Given the description of an element on the screen output the (x, y) to click on. 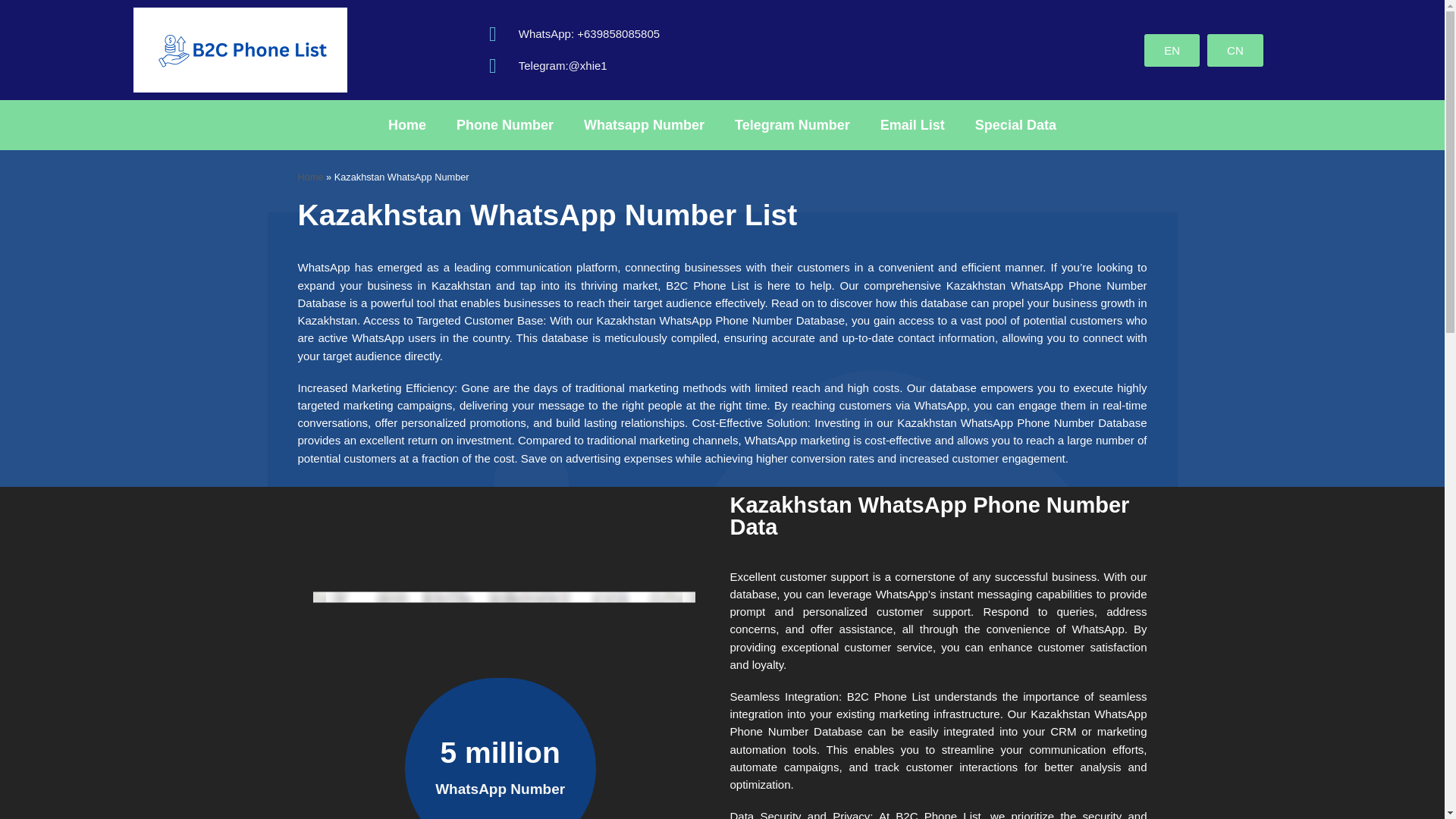
Telegram Number (791, 124)
Home (310, 176)
Email List (911, 124)
Phone Number (505, 124)
Home (406, 124)
CN (1235, 49)
Whatsapp Number (644, 124)
Special Data (1015, 124)
EN (1171, 49)
